Given the description of an element on the screen output the (x, y) to click on. 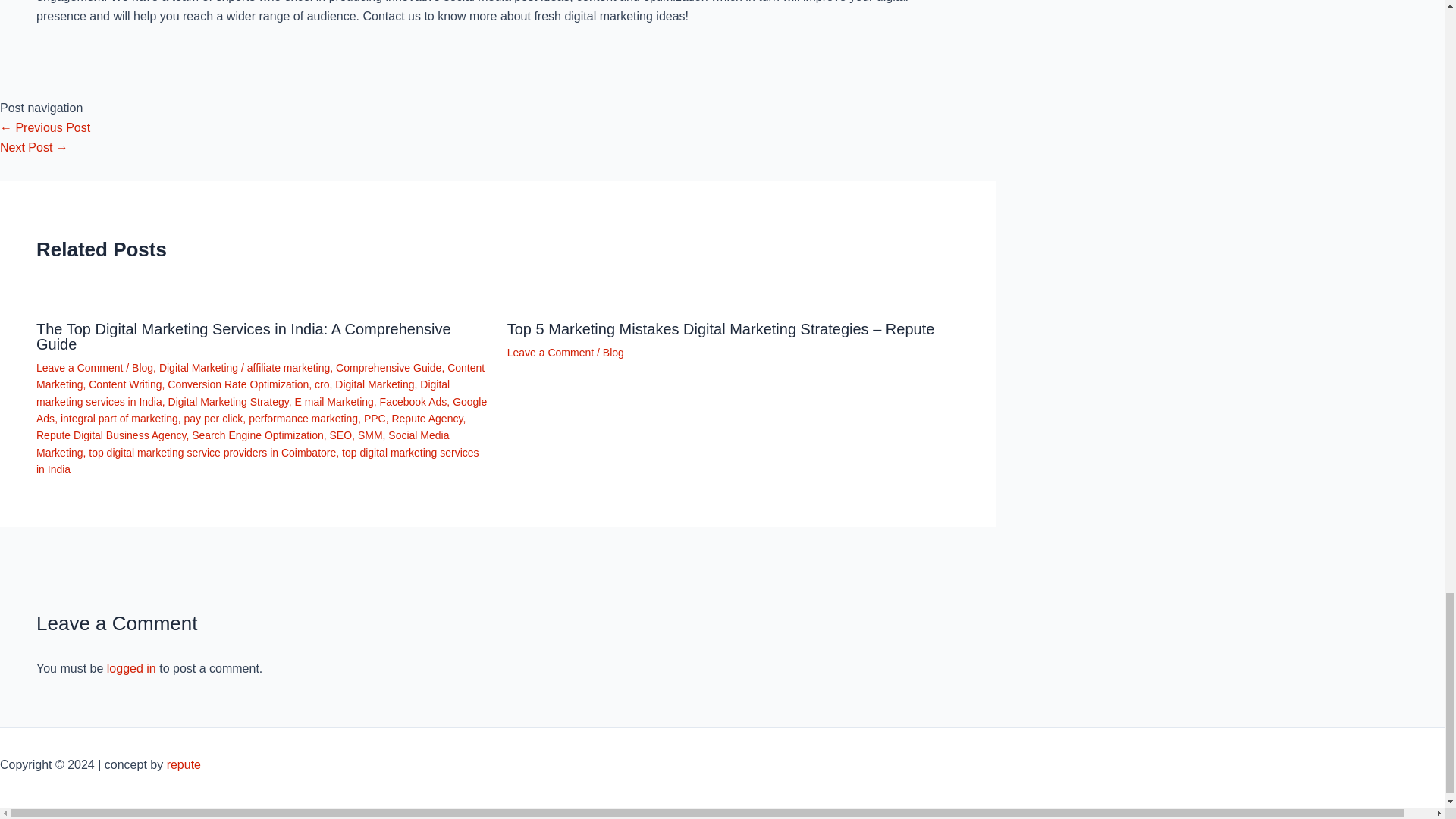
Facebook Ads (413, 401)
Conversion Rate Optimization (237, 384)
cro (321, 384)
Digital Marketing (198, 367)
Digital Marketing Strategy (228, 401)
Comprehensive Guide (388, 367)
Digital marketing services in India (242, 392)
E mail Marketing (334, 401)
Leave a Comment (79, 367)
Blog (142, 367)
affiliate marketing (288, 367)
Google Ads (261, 410)
Digital Marketing (373, 384)
Content Marketing (260, 375)
